Given the description of an element on the screen output the (x, y) to click on. 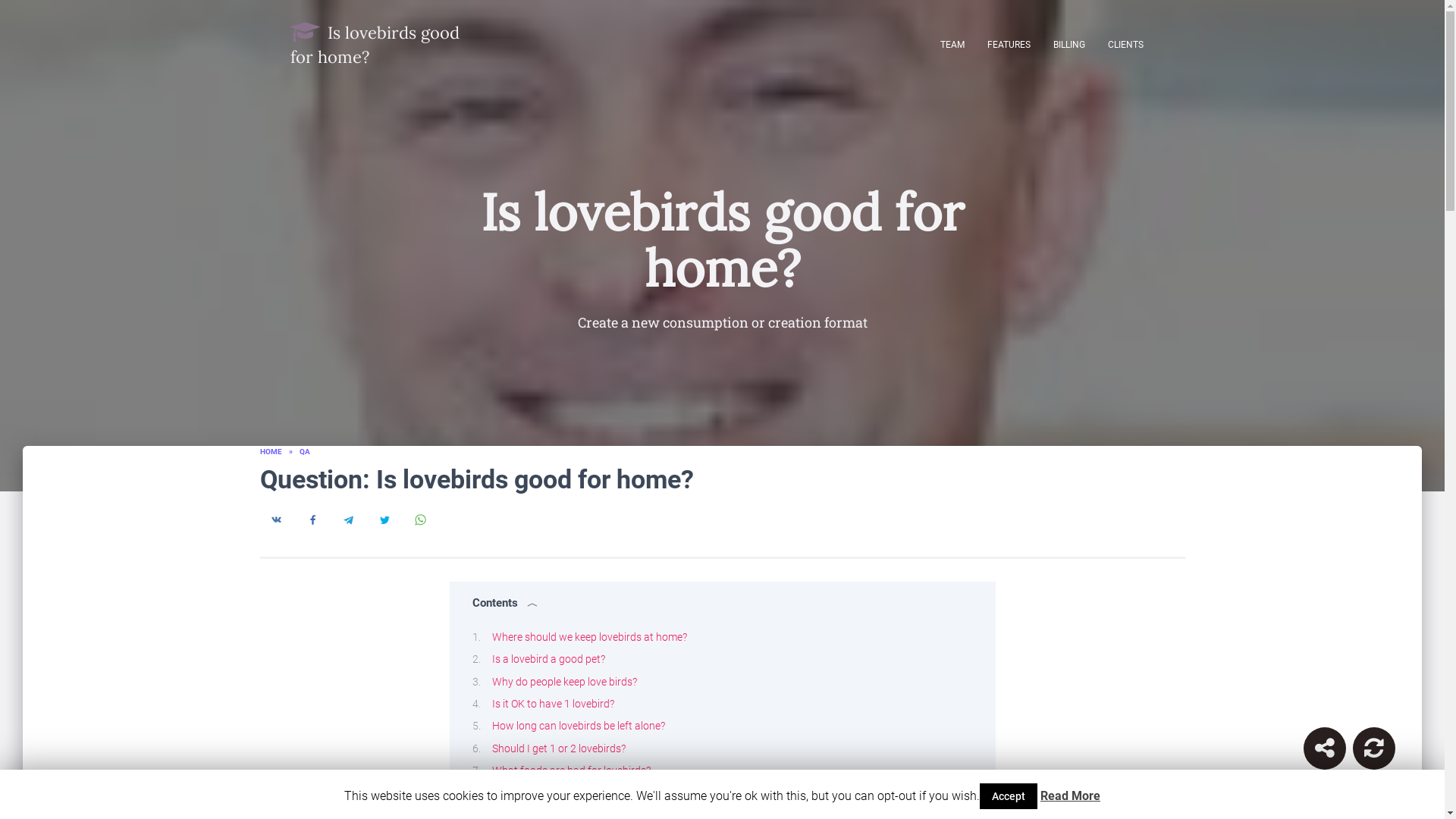
Features (1008, 44)
Billing (1069, 44)
Read More (1070, 795)
FEATURES (1008, 44)
Accept (1007, 795)
What foods are bad for lovebirds? (570, 770)
Is lovebirds good for home? (379, 43)
BILLING (1069, 44)
CLIENTS (1125, 44)
Team (951, 44)
